Given the description of an element on the screen output the (x, y) to click on. 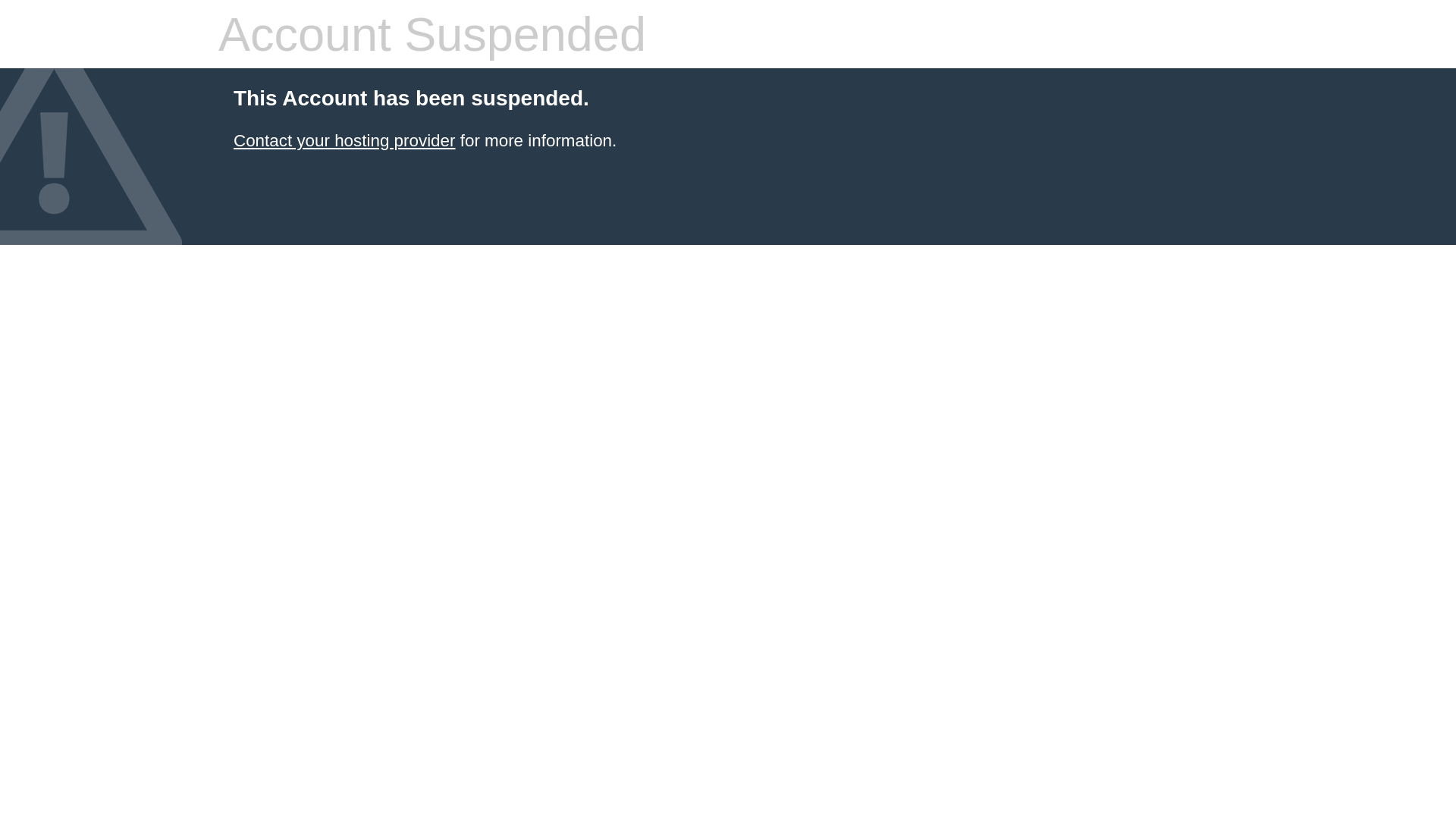
Contact your hosting provider Element type: text (344, 140)
